Given the description of an element on the screen output the (x, y) to click on. 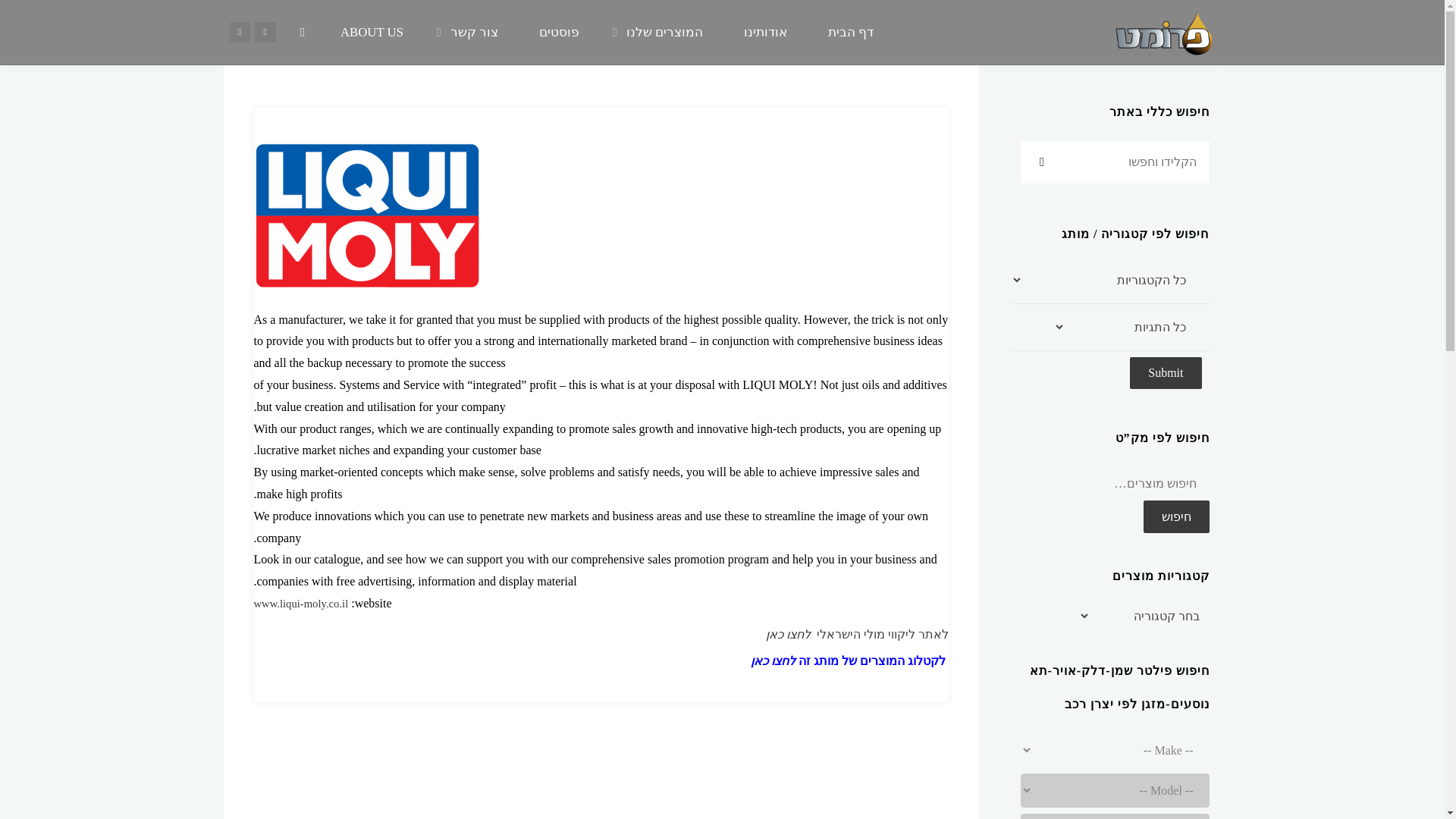
Submit (1165, 373)
